Given the description of an element on the screen output the (x, y) to click on. 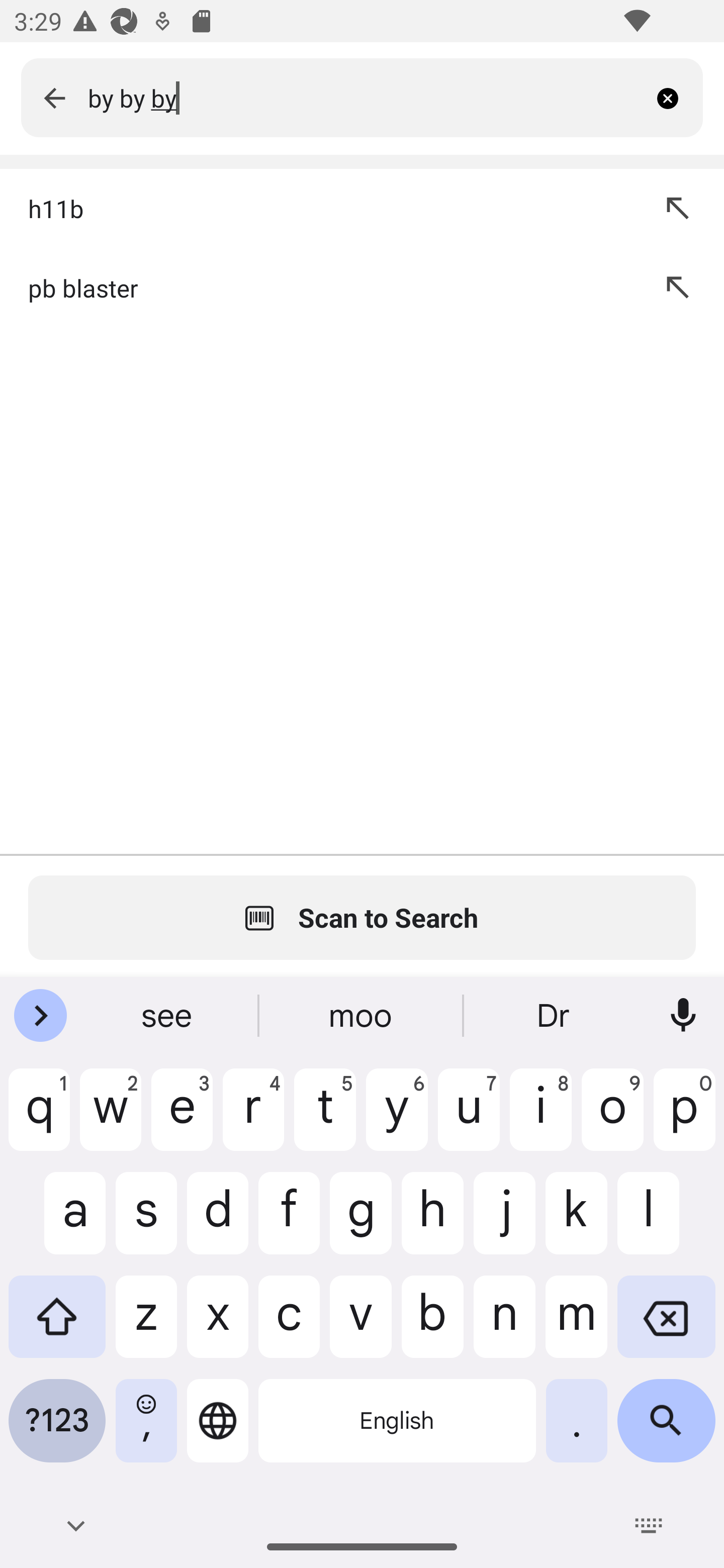
 (54, 97)
by by by Text input field (367, 97)
Clear search bar text  (674, 97)
h11b (322, 208)
pb blaster (322, 287)
